Given the description of an element on the screen output the (x, y) to click on. 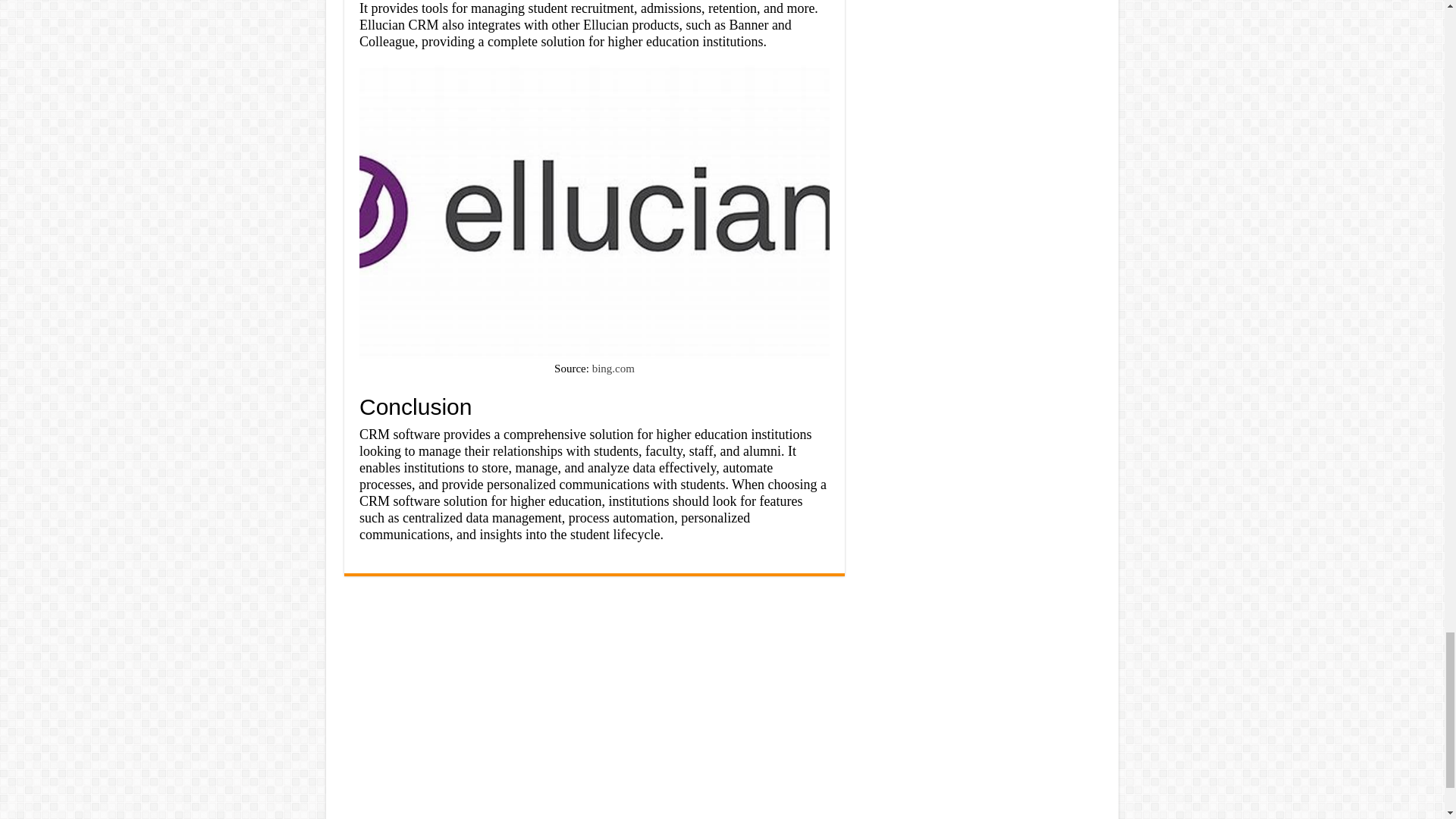
bing.com (613, 368)
